Given the description of an element on the screen output the (x, y) to click on. 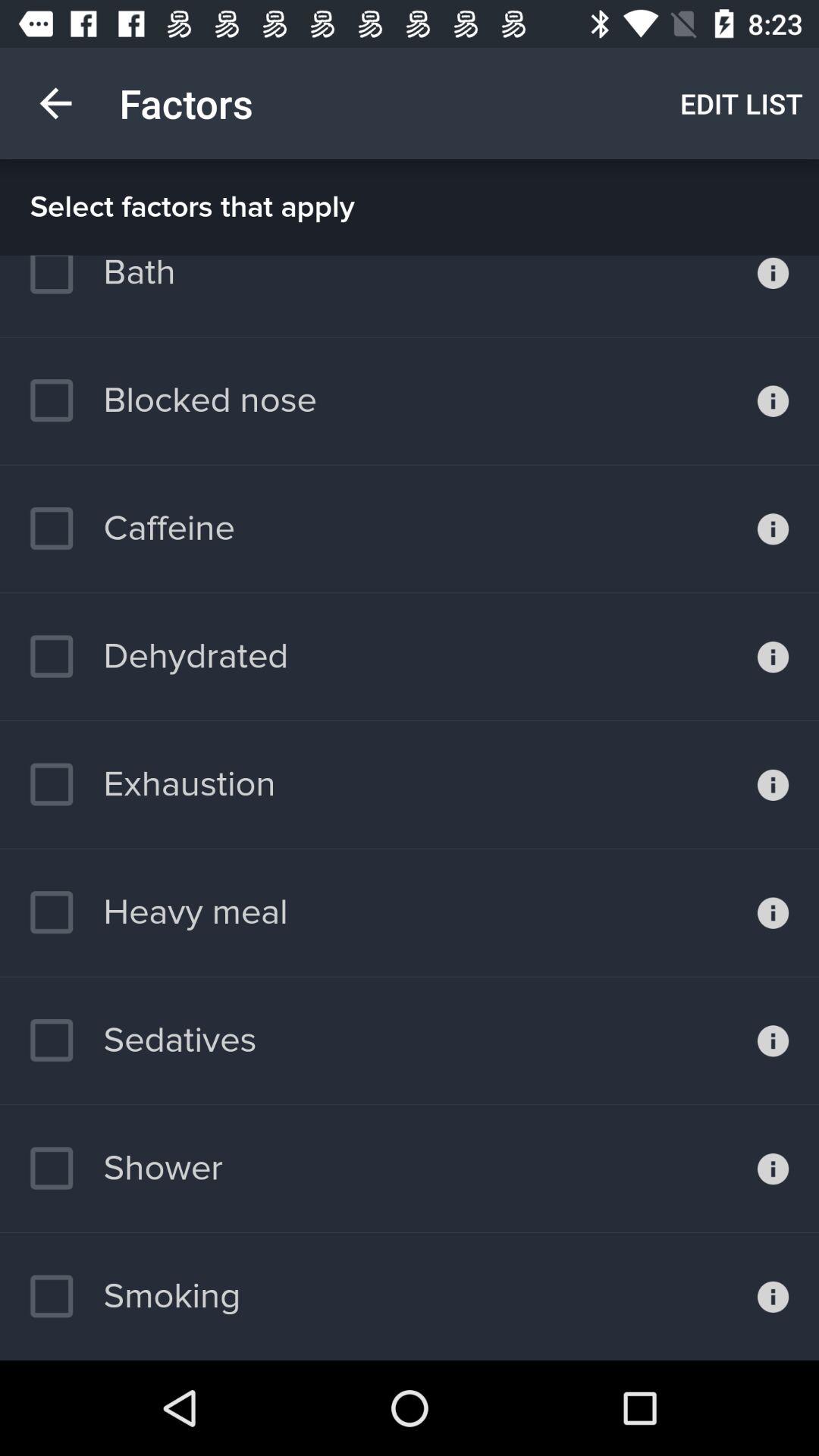
click item to the left of the factors icon (55, 103)
